Given the description of an element on the screen output the (x, y) to click on. 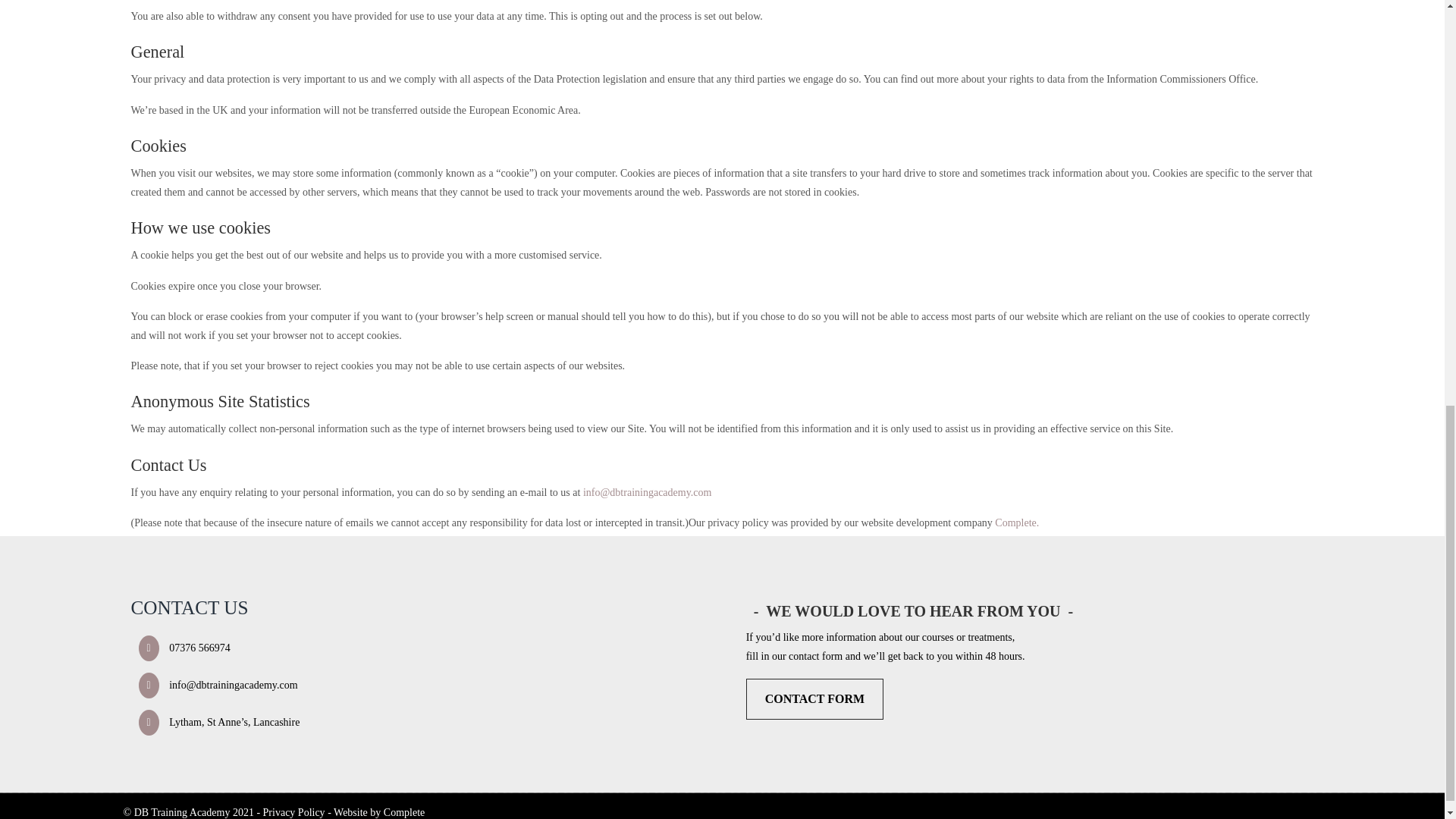
Contact Us (814, 698)
Complete. (1016, 522)
Website by Complete (379, 812)
Privacy Policy (293, 812)
07376 566974 (180, 647)
CONTACT FORM (814, 698)
